Given the description of an element on the screen output the (x, y) to click on. 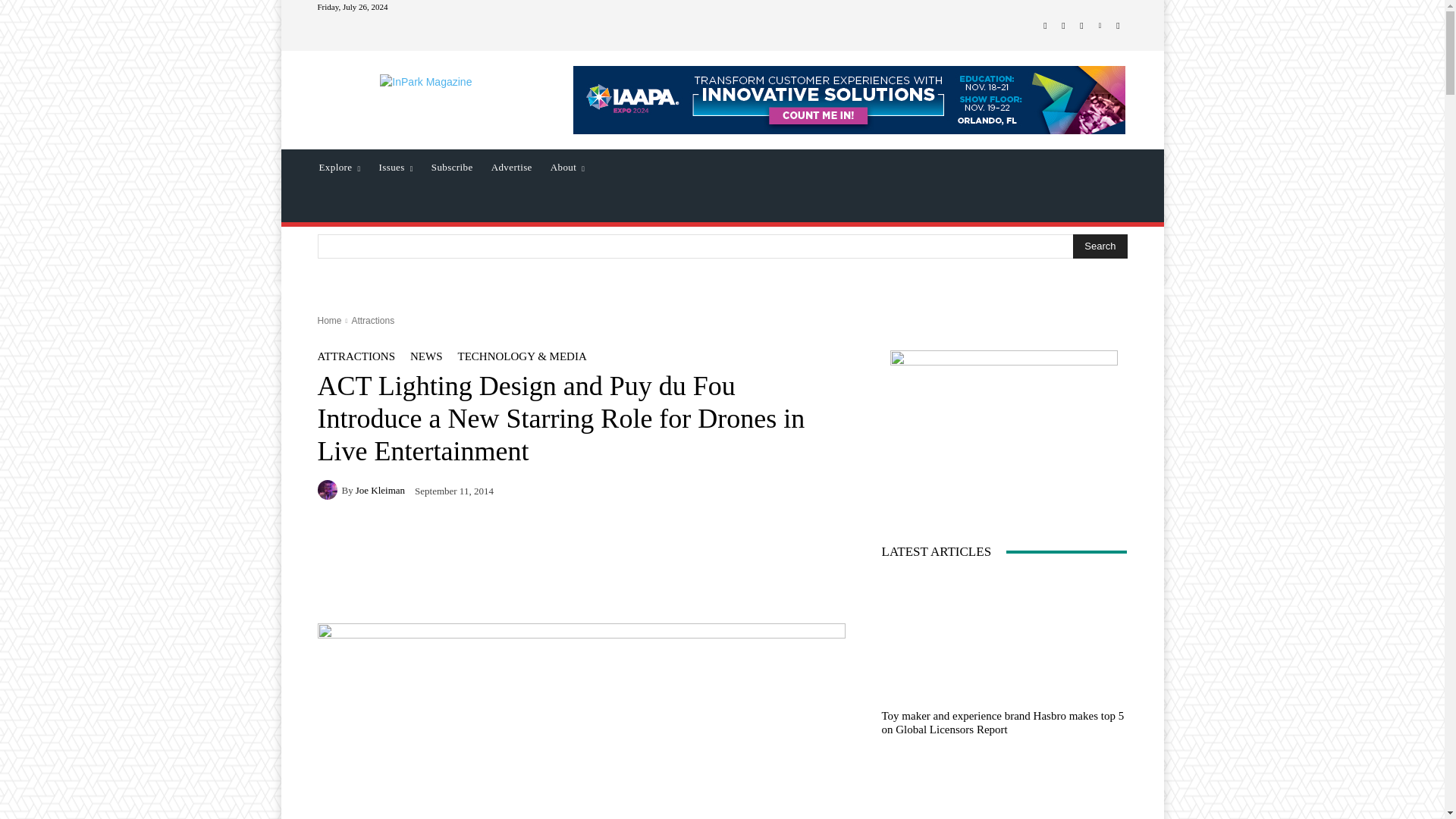
Joe Kleiman (328, 489)
Facebook (1044, 25)
View all posts in Attractions (372, 320)
Vimeo (1099, 25)
Twitter (1080, 25)
Youtube (1117, 25)
Instagram (1062, 25)
